Given the description of an element on the screen output the (x, y) to click on. 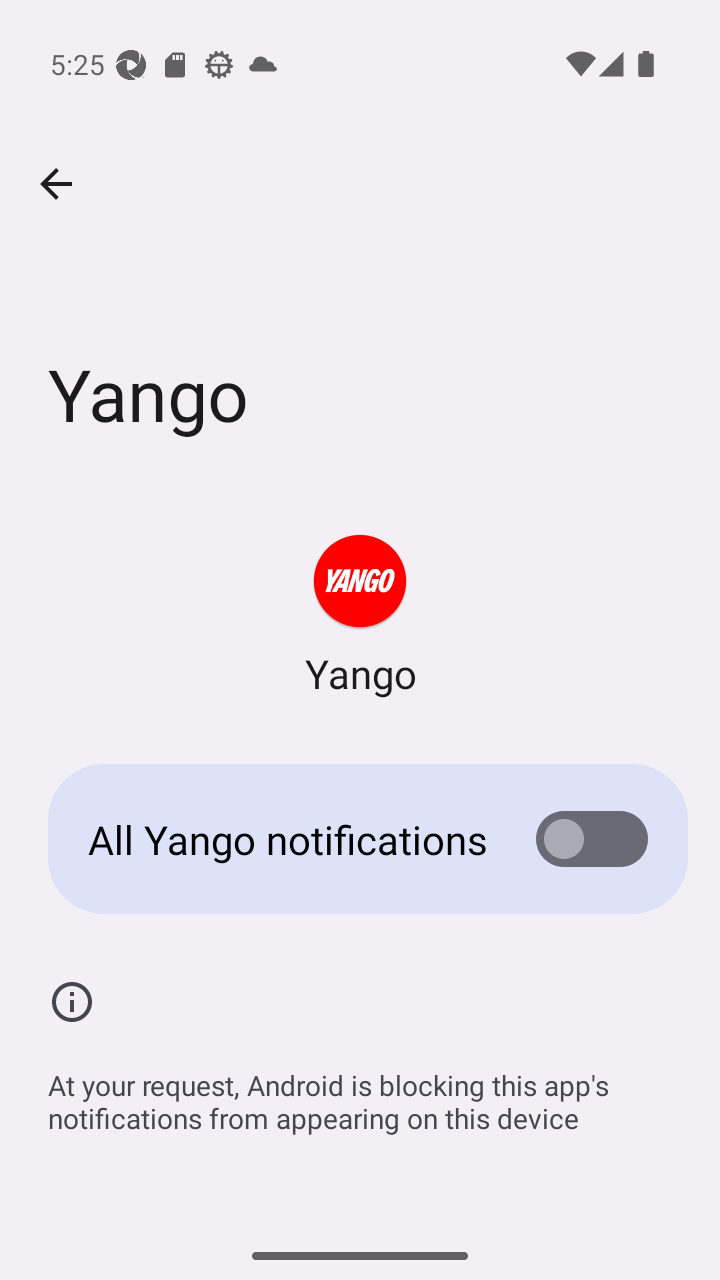
Navigate up (56, 184)
Yango (359, 616)
All Yango notifications (360, 838)
